Given the description of an element on the screen output the (x, y) to click on. 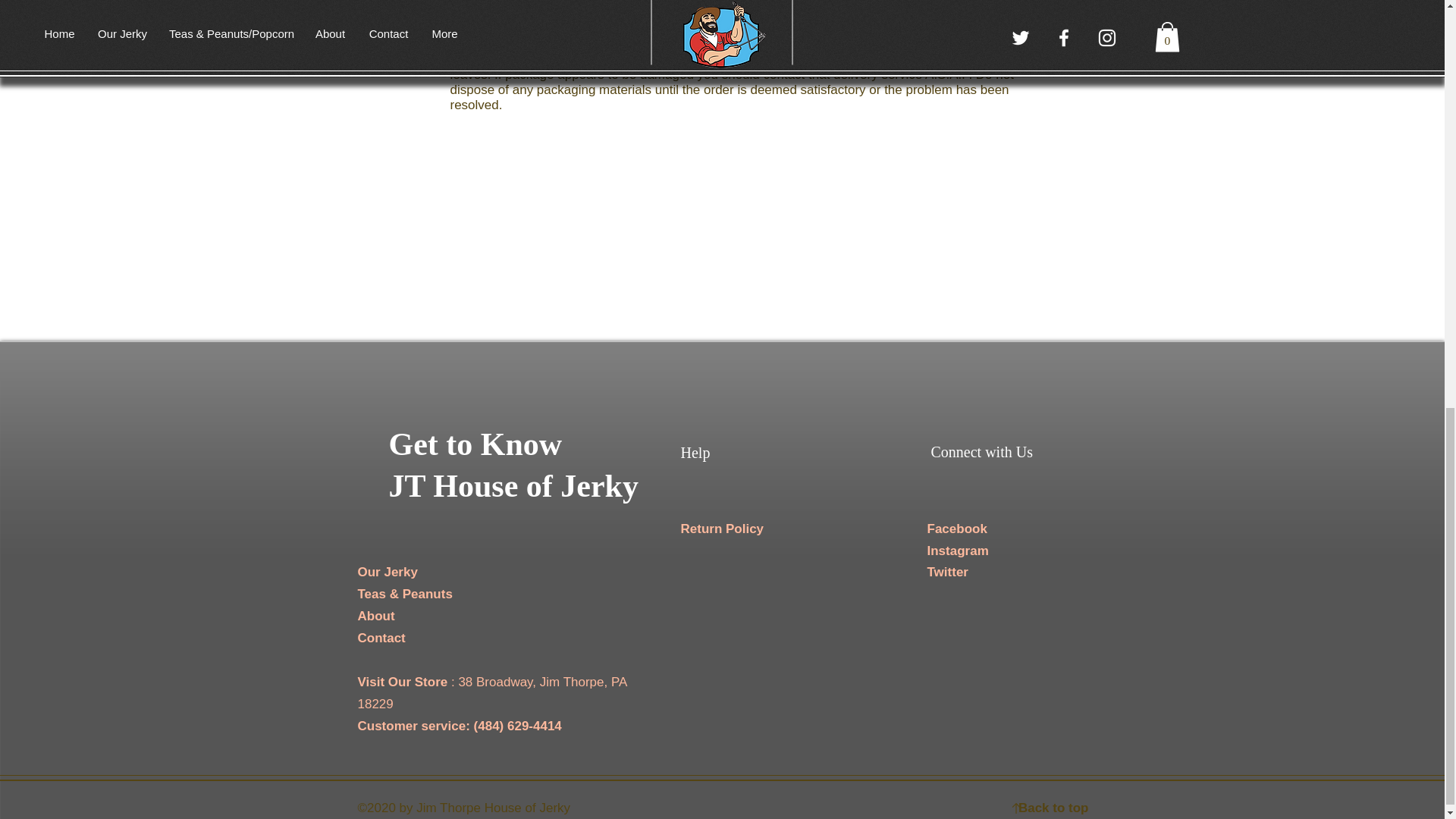
Back to top (1053, 807)
Our Jerky (387, 572)
Contact (382, 637)
Facebook (956, 528)
About (376, 616)
Instagram (957, 550)
Return Policy (722, 528)
Twitter (947, 572)
